Given the description of an element on the screen output the (x, y) to click on. 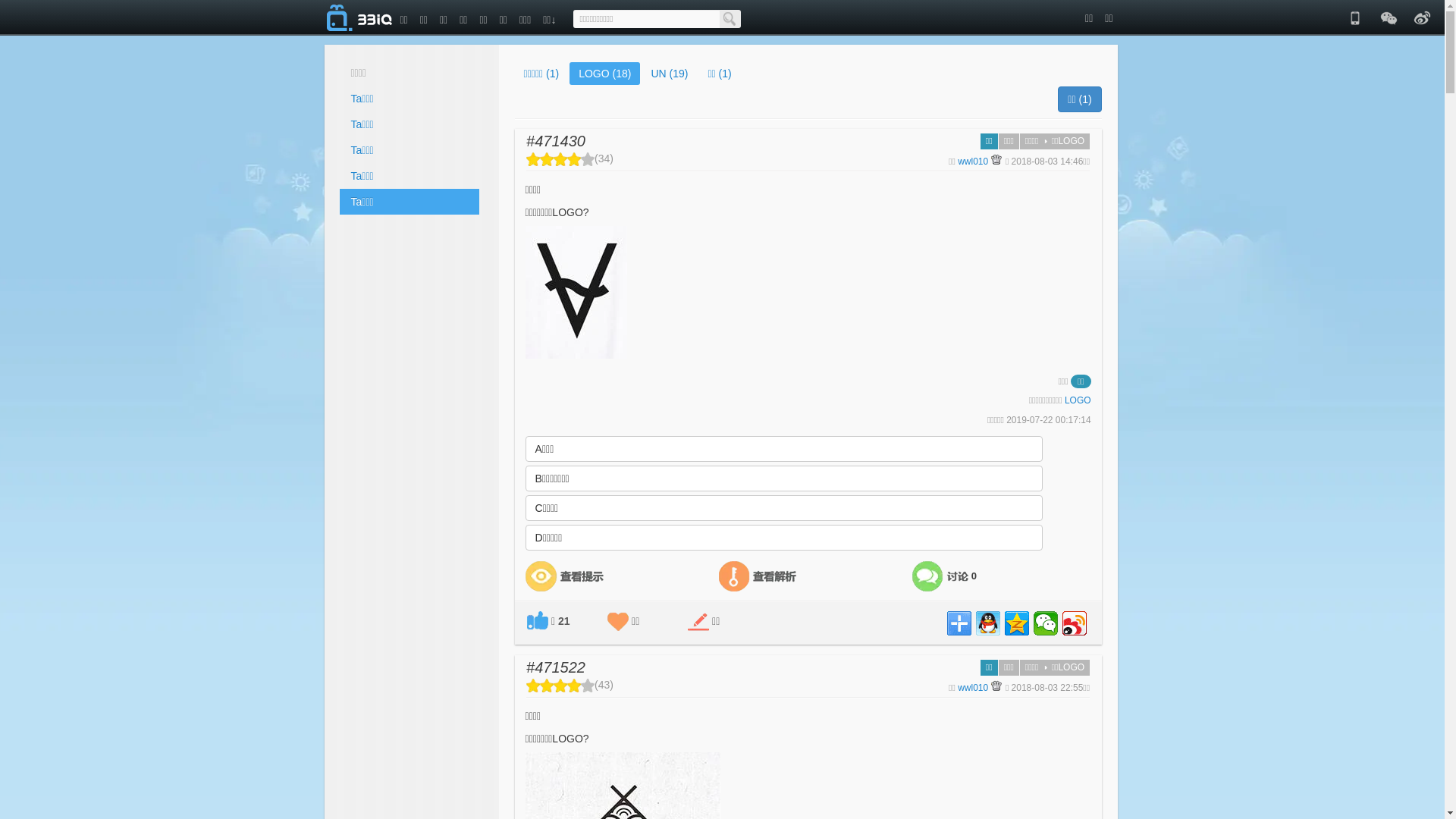
LOGO (18) Element type: text (604, 73)
wwl010 Element type: text (972, 687)
LOGO Element type: text (1077, 400)
wwl010 Element type: text (972, 161)
UN (19) Element type: text (668, 73)
